Given the description of an element on the screen output the (x, y) to click on. 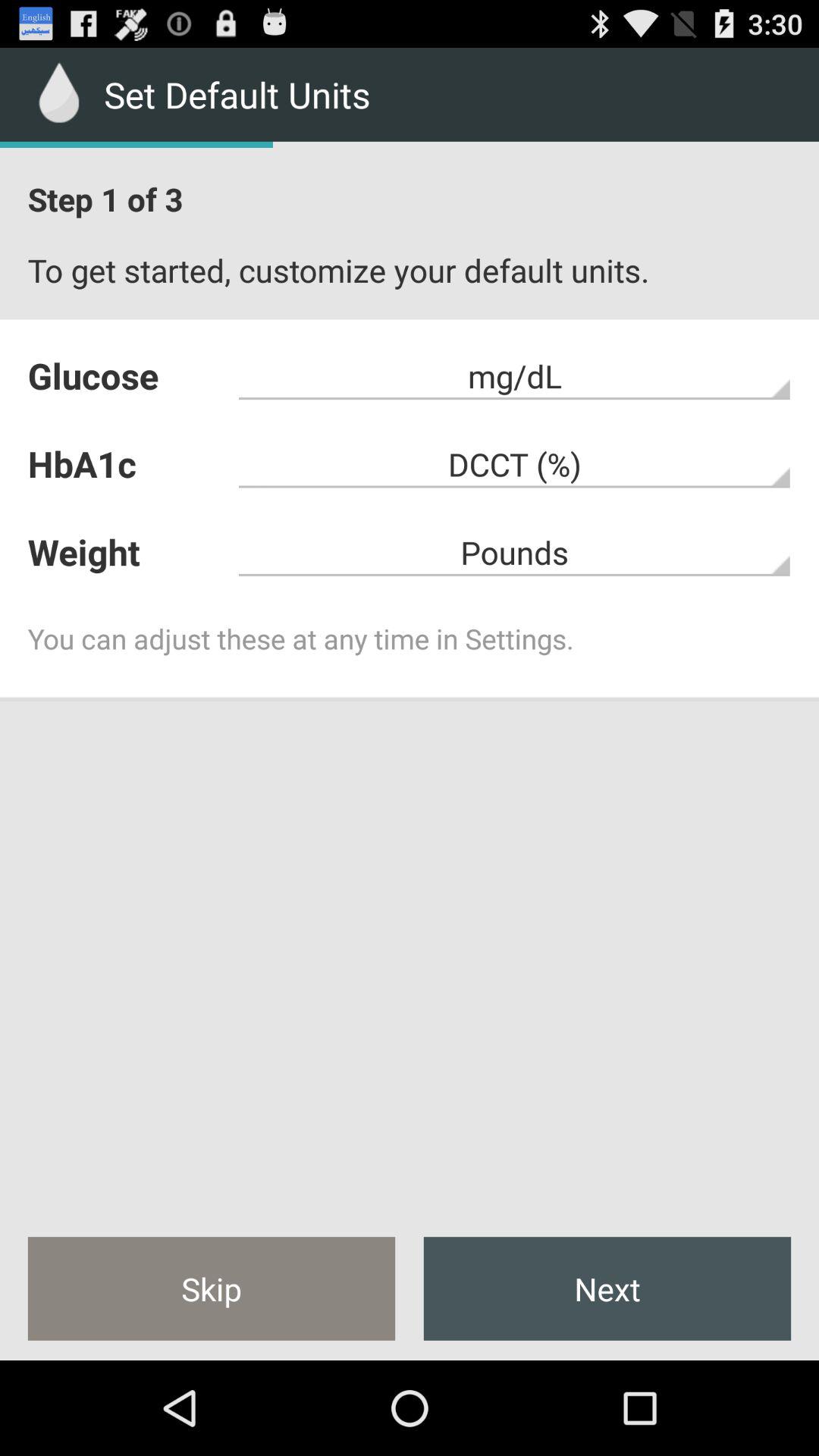
choose skip (211, 1288)
